Given the description of an element on the screen output the (x, y) to click on. 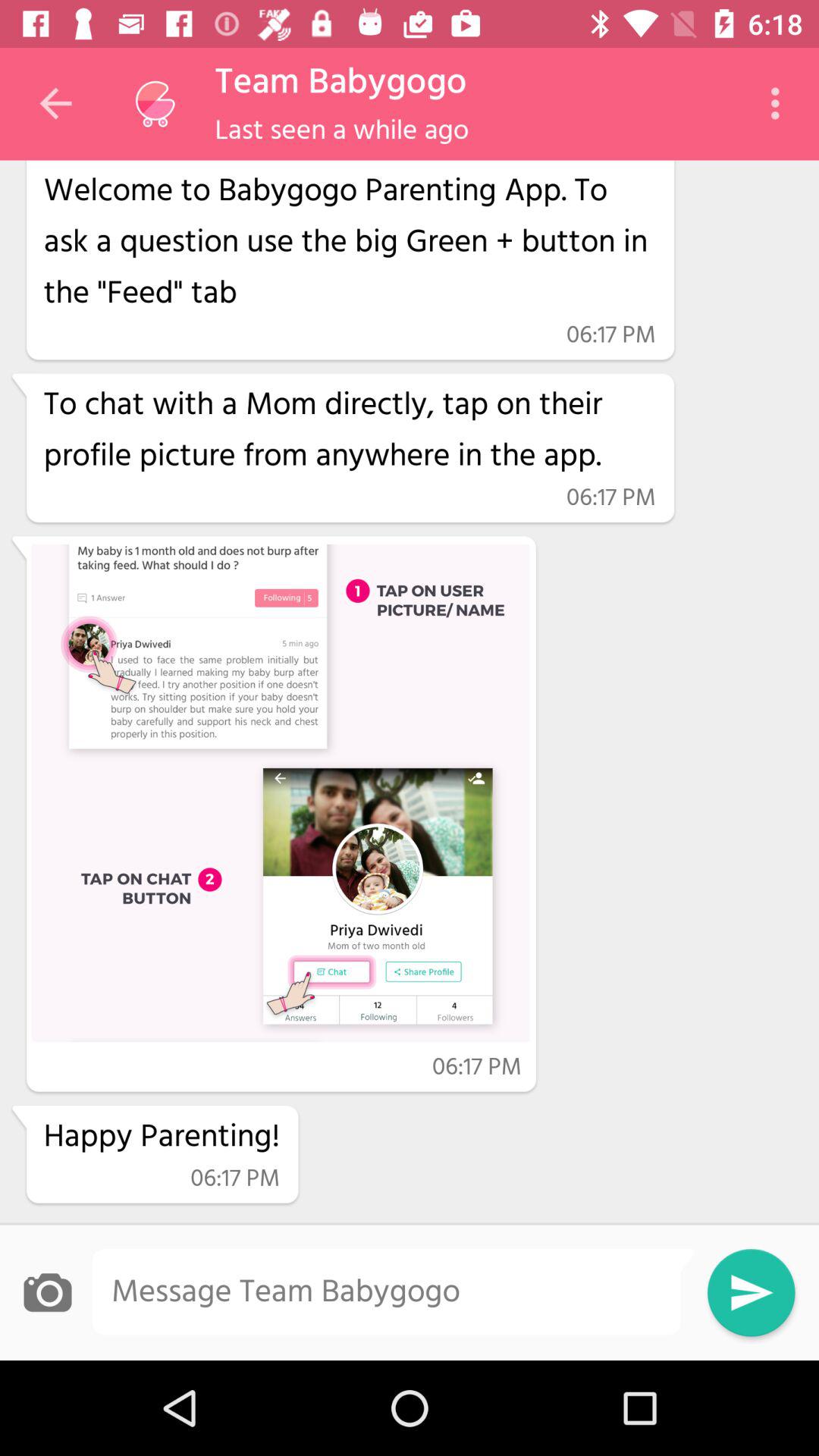
press the item above the hi app crawler icon (341, 131)
